Given the description of an element on the screen output the (x, y) to click on. 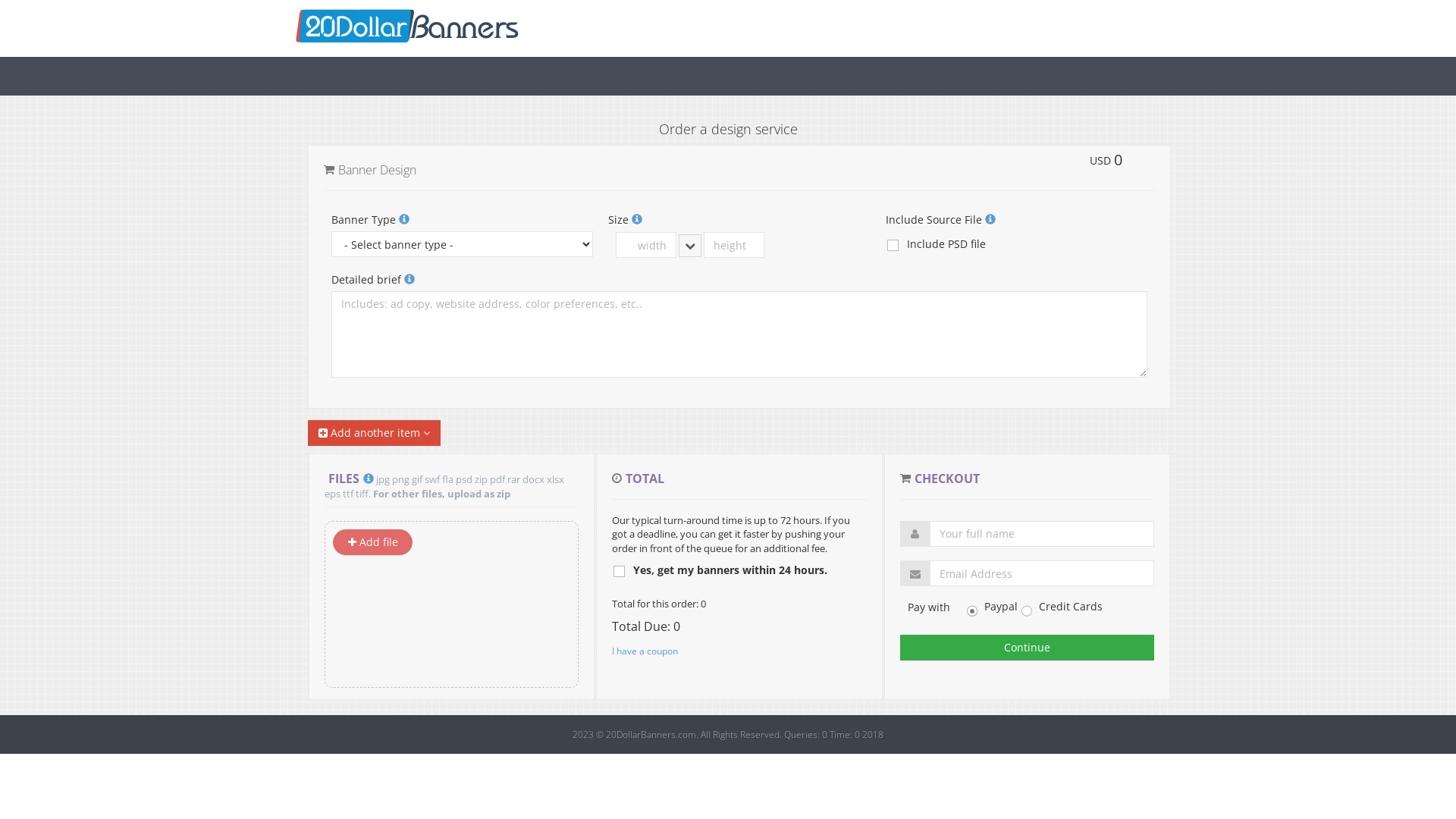
Add another item Element type: text (373, 432)
I have a coupon Element type: text (644, 650)
Dashboard Element type: hover (406, 19)
Continue Element type: text (1026, 647)
